Given the description of an element on the screen output the (x, y) to click on. 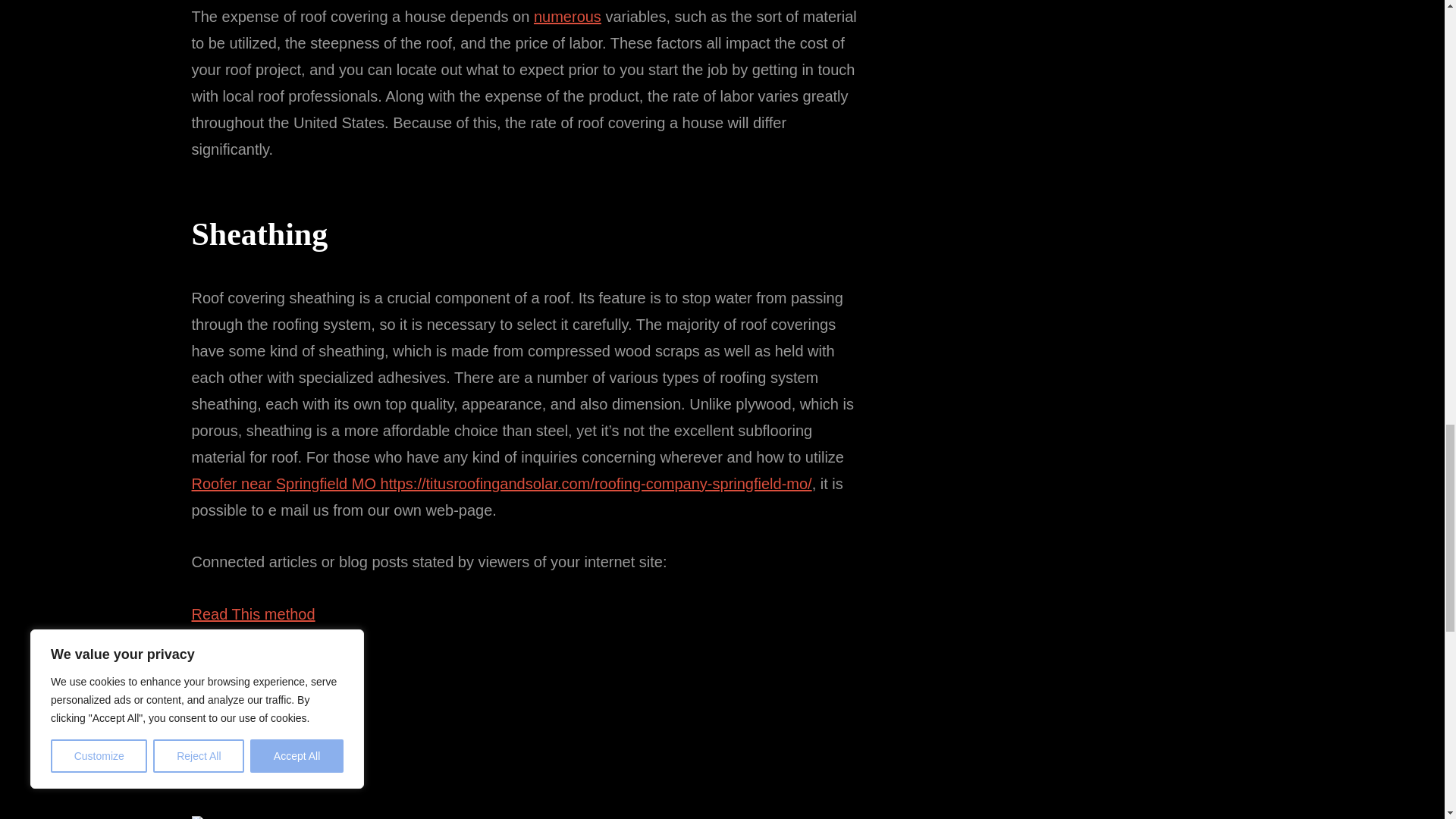
find more (221, 717)
Read This method (252, 614)
numerous (567, 16)
look at this web-site (257, 769)
read what he said (250, 665)
